Given the description of an element on the screen output the (x, y) to click on. 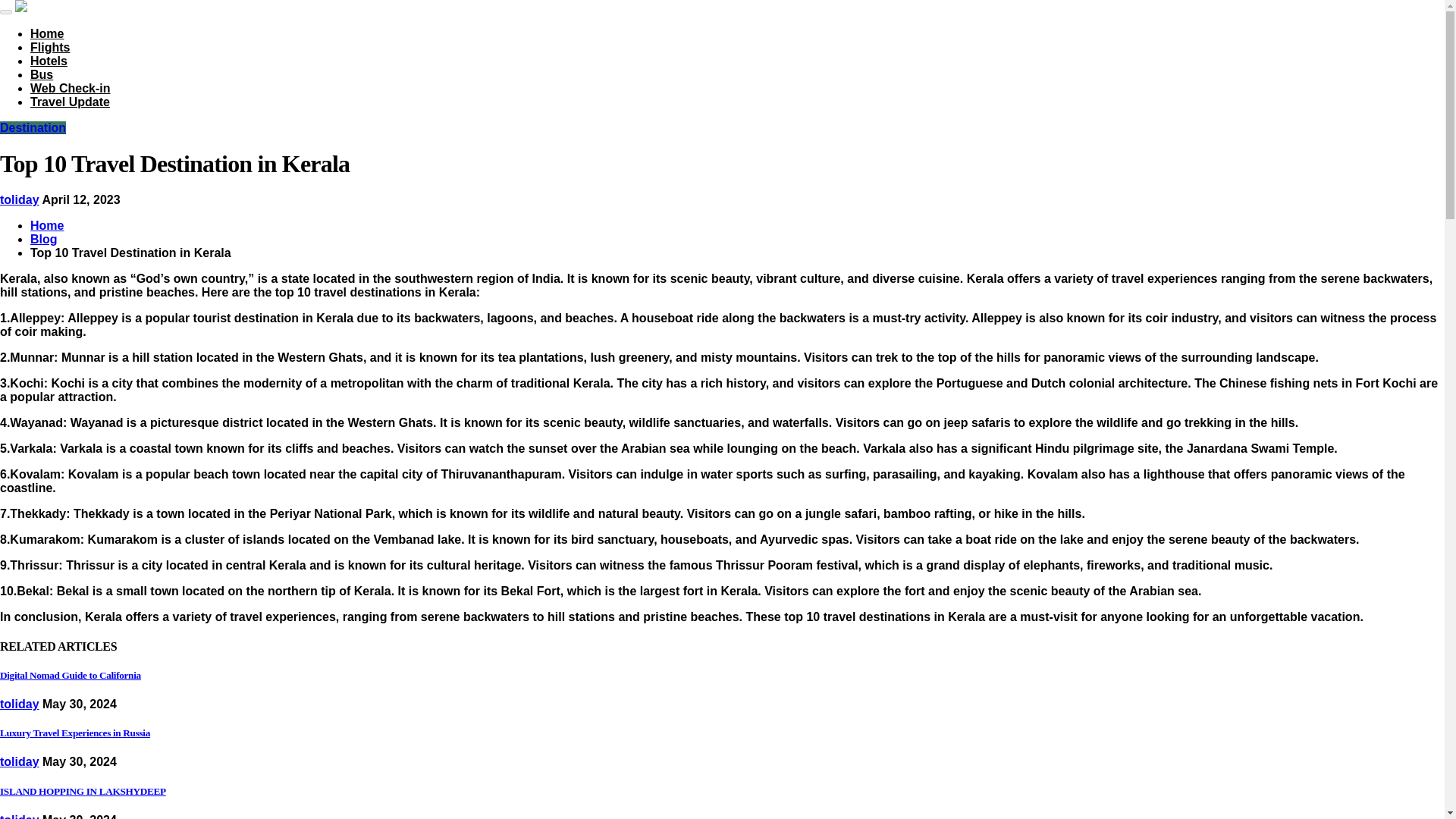
toliday (19, 703)
Digital Nomad Guide to California (70, 674)
Destination (32, 127)
Hotels (48, 60)
toliday (19, 816)
Travel Update (70, 101)
Blog (44, 238)
Web Check-in (70, 88)
Toggle navigation (5, 11)
Home (47, 33)
Posts by toliday (19, 199)
toliday (19, 199)
Flights (49, 47)
Home (47, 225)
Luxury Travel Experiences in Russia (74, 732)
